Given the description of an element on the screen output the (x, y) to click on. 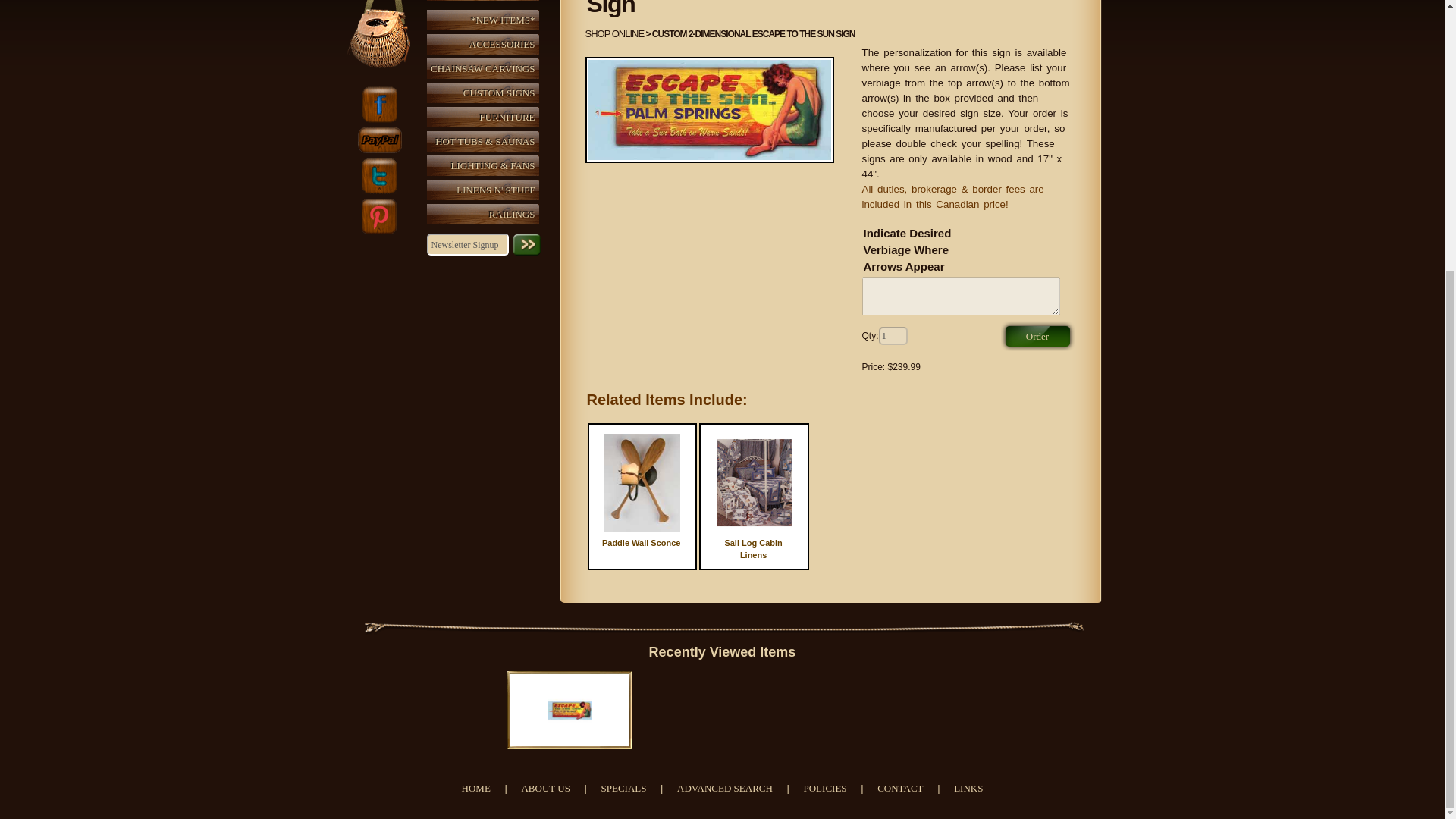
CUSTOM SIGNS (486, 92)
FURNITURE (486, 117)
ACCESSORIES (486, 44)
Order (1037, 336)
Newsletter Signup (467, 244)
1 (893, 335)
Paypal (378, 139)
CHAINSAW CARVINGS (486, 68)
Twitter (378, 216)
Twitter (378, 176)
Custom 2-Dimensional Escape to the Sun Sign (709, 109)
Facebook (378, 104)
